Given the description of an element on the screen output the (x, y) to click on. 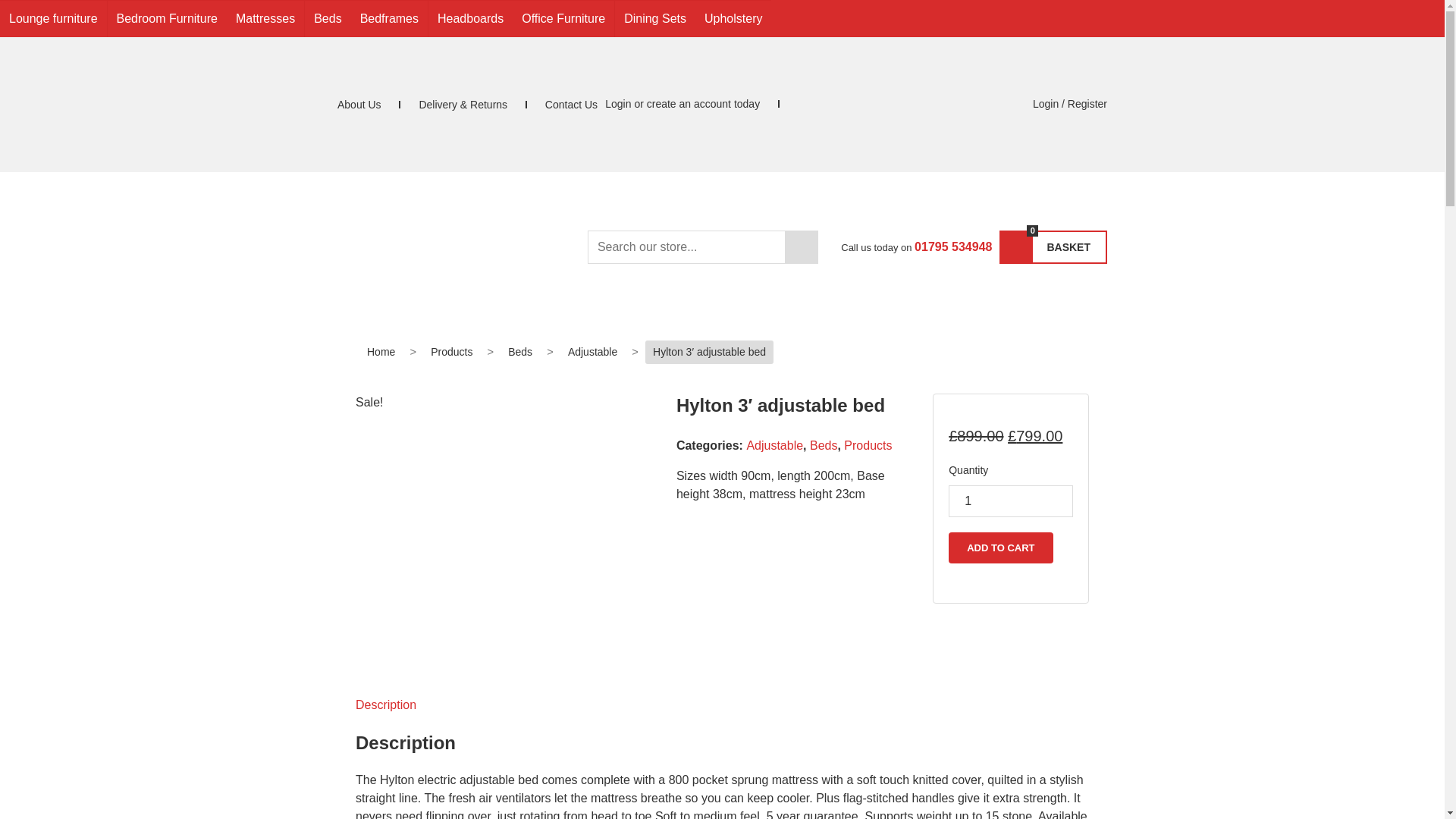
Adjustable (592, 351)
Mattresses (265, 18)
Headboards (470, 18)
Lounge furniture (53, 18)
Home (381, 351)
Beds (520, 351)
Beds (327, 18)
Dining Sets (654, 18)
Upholstery (733, 18)
1 (1011, 500)
Products (451, 351)
Bedroom Furniture (166, 18)
Office Furniture (563, 18)
Contact Us (570, 104)
About Us (359, 104)
